Given the description of an element on the screen output the (x, y) to click on. 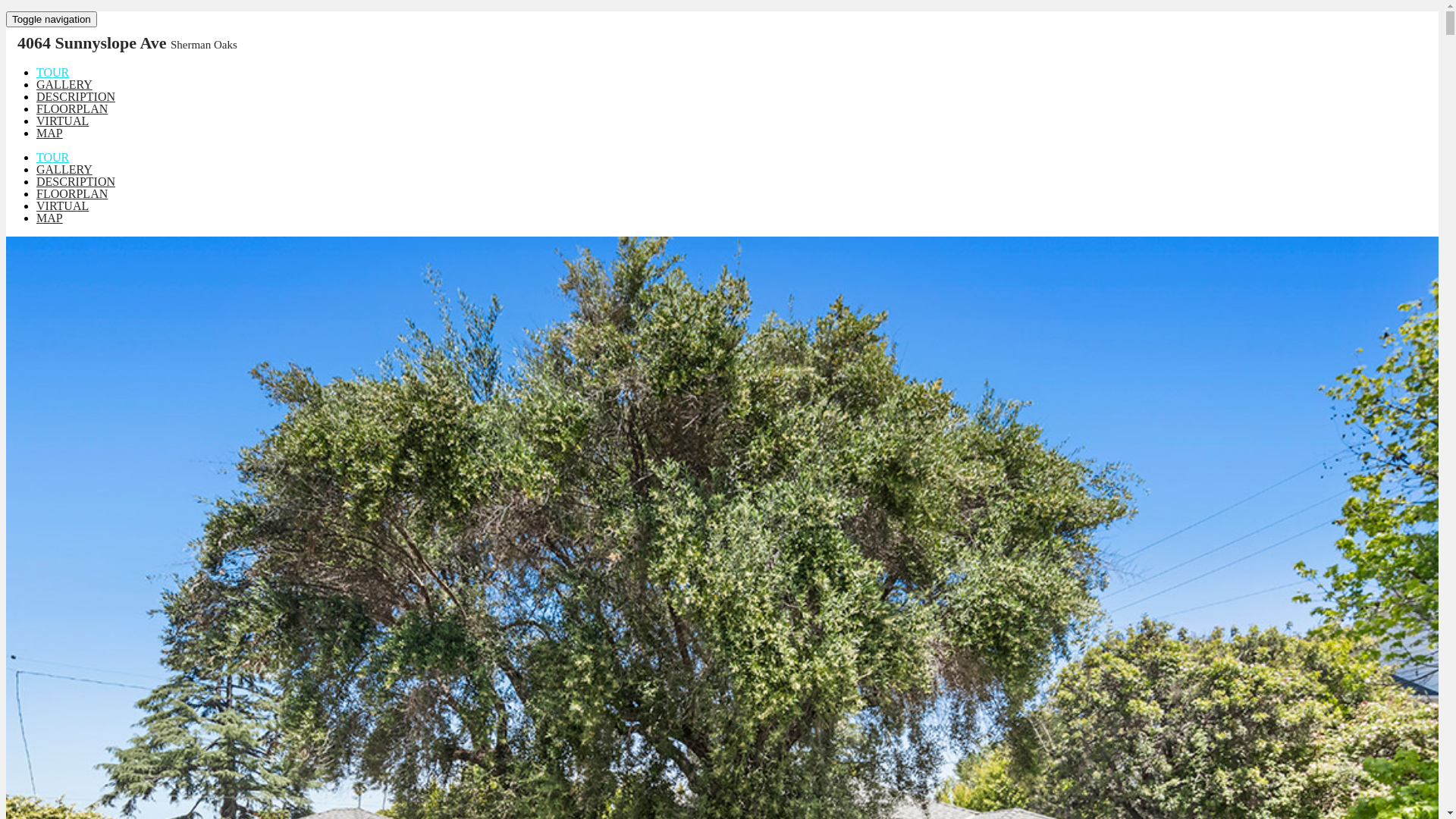
FLOORPLAN Element type: text (71, 193)
MAP Element type: text (49, 132)
GALLERY Element type: text (64, 84)
FLOORPLAN Element type: text (71, 108)
VIRTUAL Element type: text (62, 120)
MAP Element type: text (49, 217)
GALLERY Element type: text (64, 169)
DESCRIPTION Element type: text (75, 96)
VIRTUAL Element type: text (62, 205)
TOUR Element type: text (52, 156)
TOUR Element type: text (52, 71)
4064 Sunnyslope Ave Sherman Oaks Element type: text (127, 42)
Toggle navigation Element type: text (51, 19)
DESCRIPTION Element type: text (75, 181)
